Given the description of an element on the screen output the (x, y) to click on. 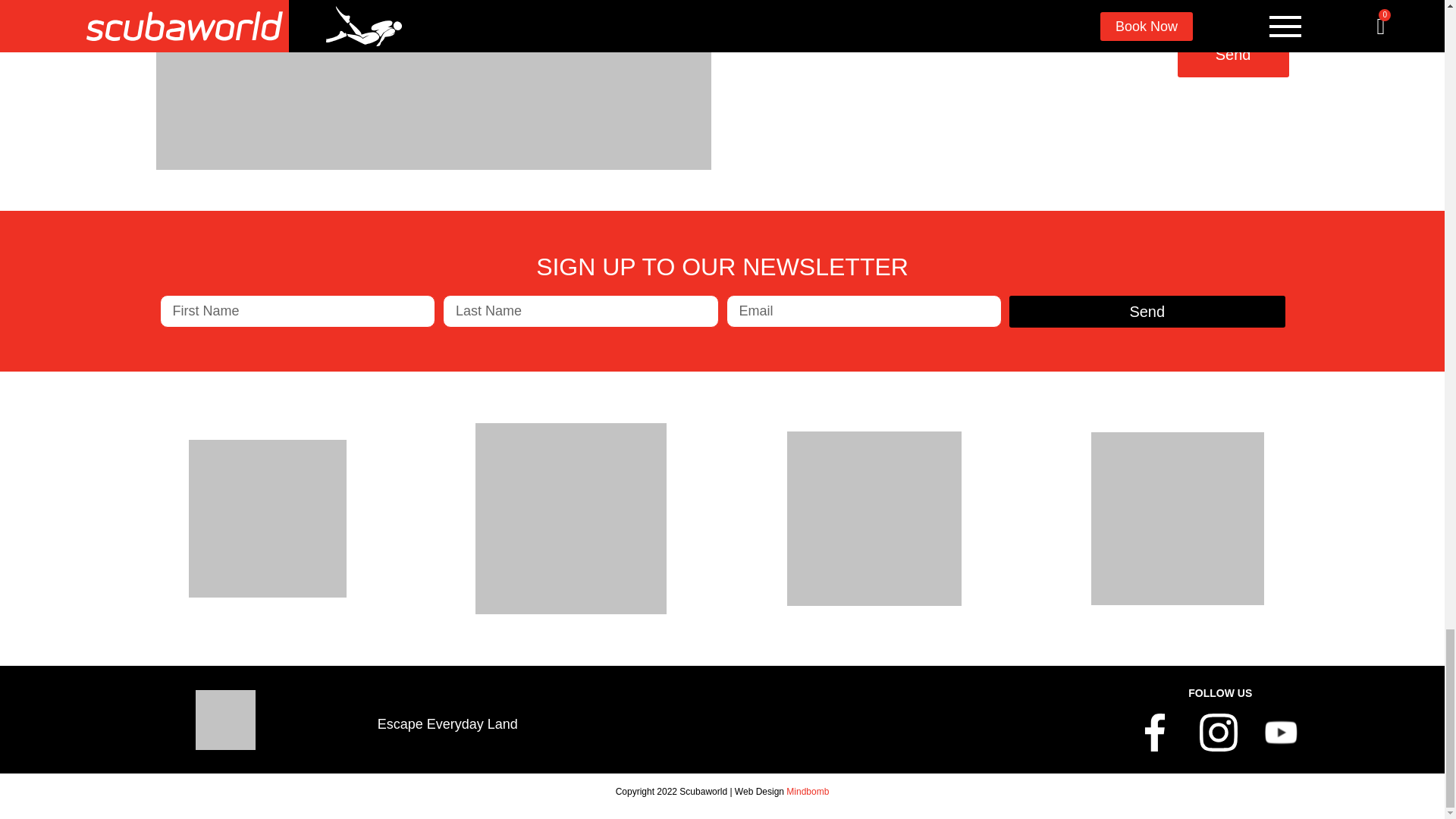
Send (1147, 311)
Send (1232, 53)
Mindbomb (807, 791)
